Given the description of an element on the screen output the (x, y) to click on. 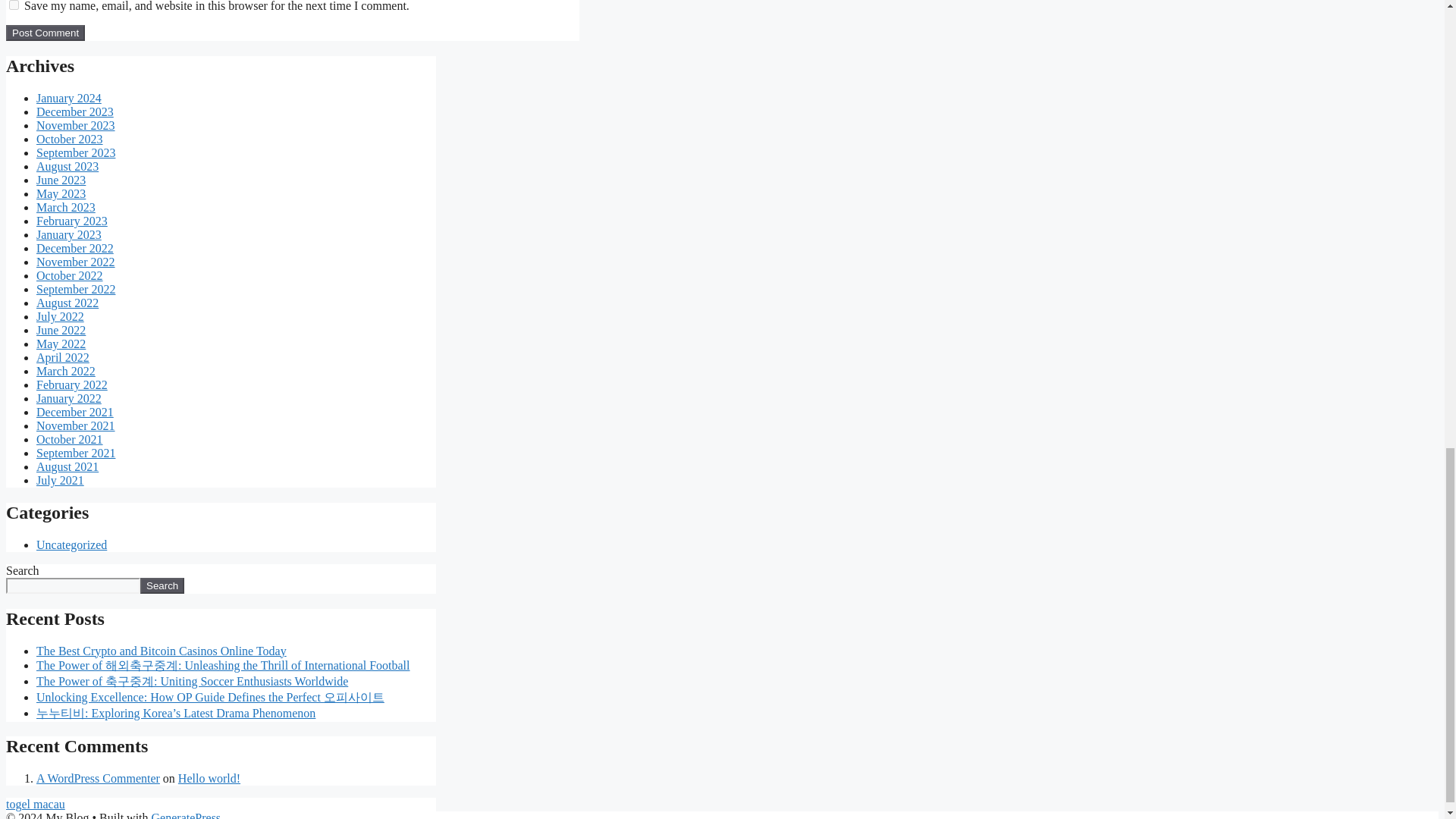
October 2021 (69, 439)
January 2023 (68, 234)
January 2024 (68, 97)
July 2022 (60, 316)
August 2022 (67, 302)
August 2023 (67, 165)
December 2022 (74, 247)
December 2023 (74, 111)
June 2022 (60, 329)
May 2023 (60, 193)
